Given the description of an element on the screen output the (x, y) to click on. 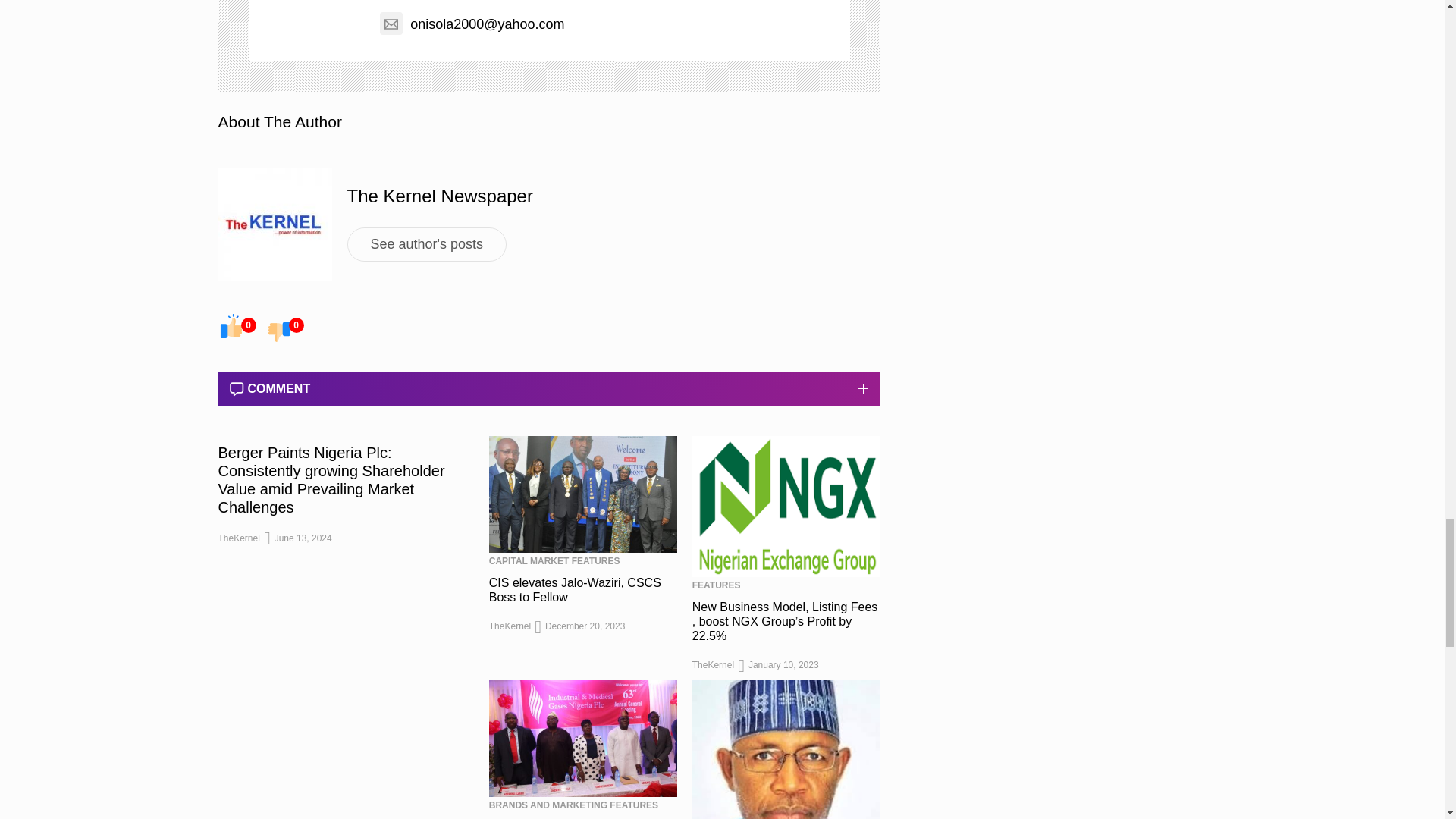
TheKernel (239, 538)
See author's posts (426, 244)
CIS elevates Jalo-Waziri, CSCS Boss to Fellow (583, 493)
June 13, 2024 (303, 538)
The Kernel Newspaper (439, 195)
CIS elevates Jalo-Waziri, CSCS Boss to Fellow (575, 589)
CAPITAL MARKET (529, 560)
FEATURES (596, 560)
